Given the description of an element on the screen output the (x, y) to click on. 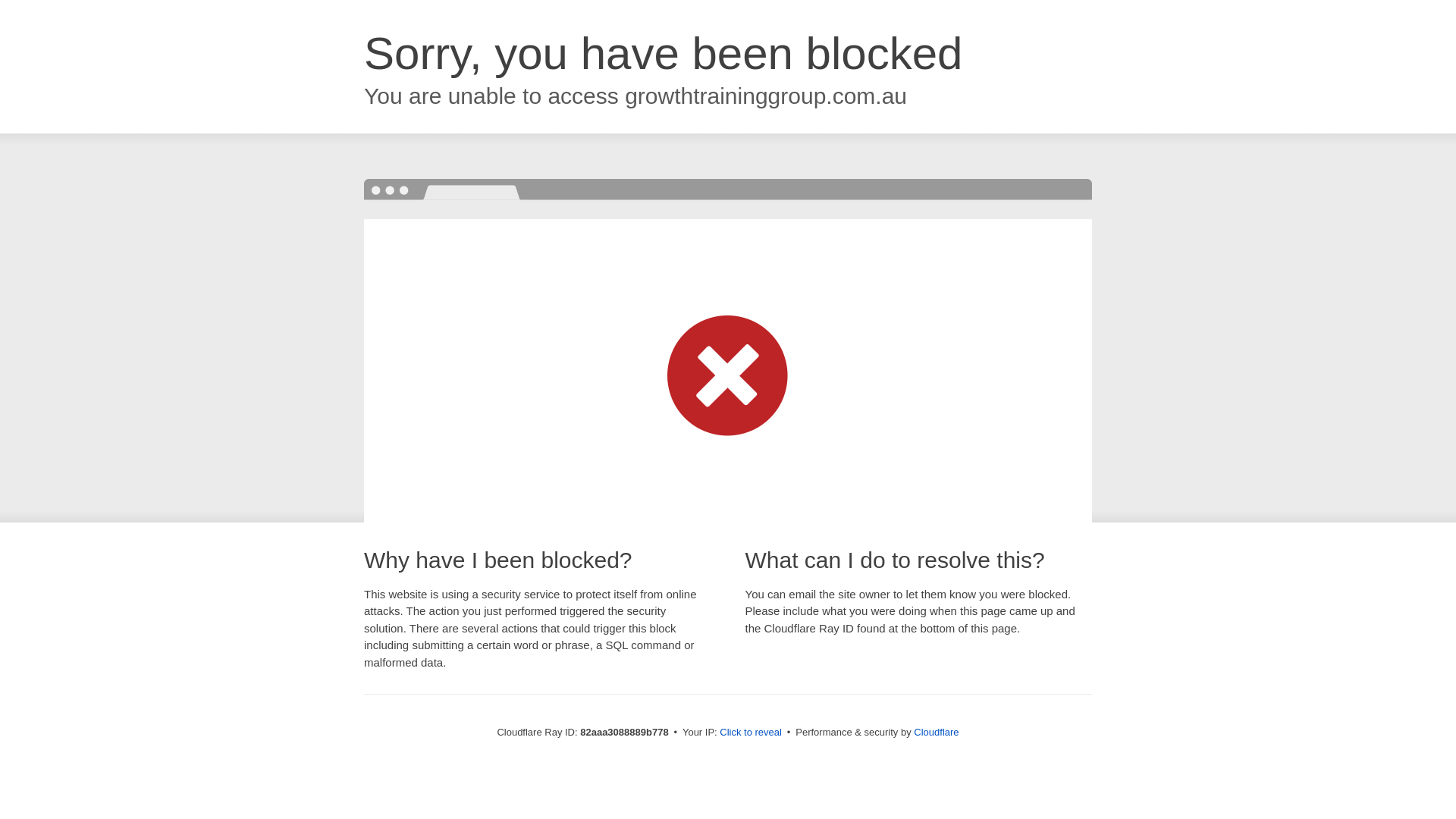
Cloudflare Element type: text (935, 731)
Click to reveal Element type: text (750, 732)
